Given the description of an element on the screen output the (x, y) to click on. 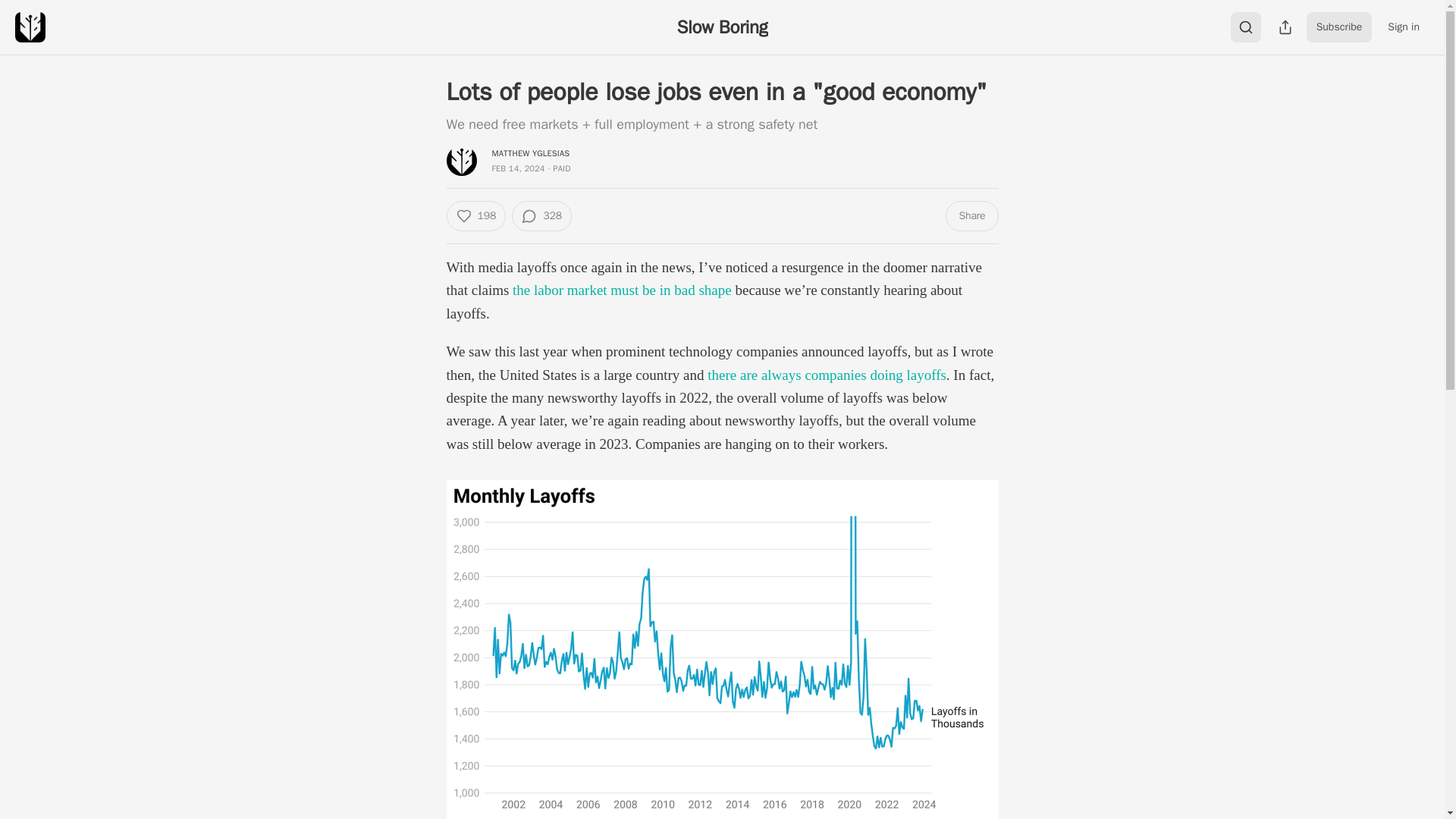
MATTHEW YGLESIAS (530, 153)
198 (475, 215)
Subscribe (1339, 27)
there are always companies doing layoffs (826, 374)
Share (970, 215)
328 (542, 215)
the labor market must be in bad shape (622, 289)
Sign in (1403, 27)
Slow Boring (722, 26)
